Given the description of an element on the screen output the (x, y) to click on. 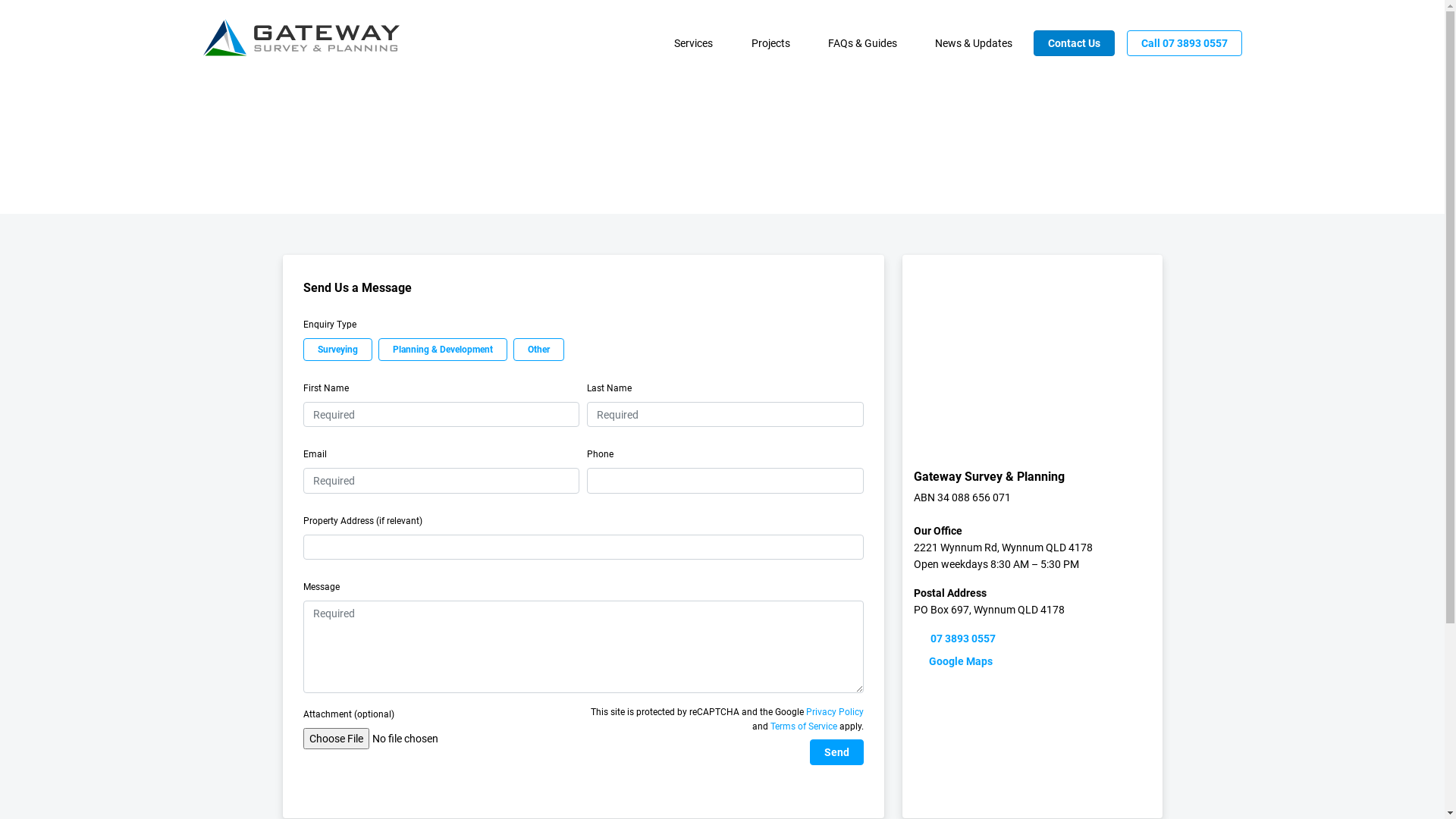
Google Maps Element type: text (1031, 660)
Send Element type: text (836, 752)
Gateway Survey & Planning Element type: text (301, 38)
FAQs & Guides Element type: text (862, 43)
07 3893 0557 Element type: text (1031, 638)
Projects Element type: text (769, 43)
Services Element type: text (693, 43)
Call 07 3893 0557 Element type: text (1184, 43)
Privacy Policy Element type: text (834, 711)
Terms of Service Element type: text (803, 726)
Contact Us Element type: text (1072, 43)
News & Updates Element type: text (973, 43)
